Given the description of an element on the screen output the (x, y) to click on. 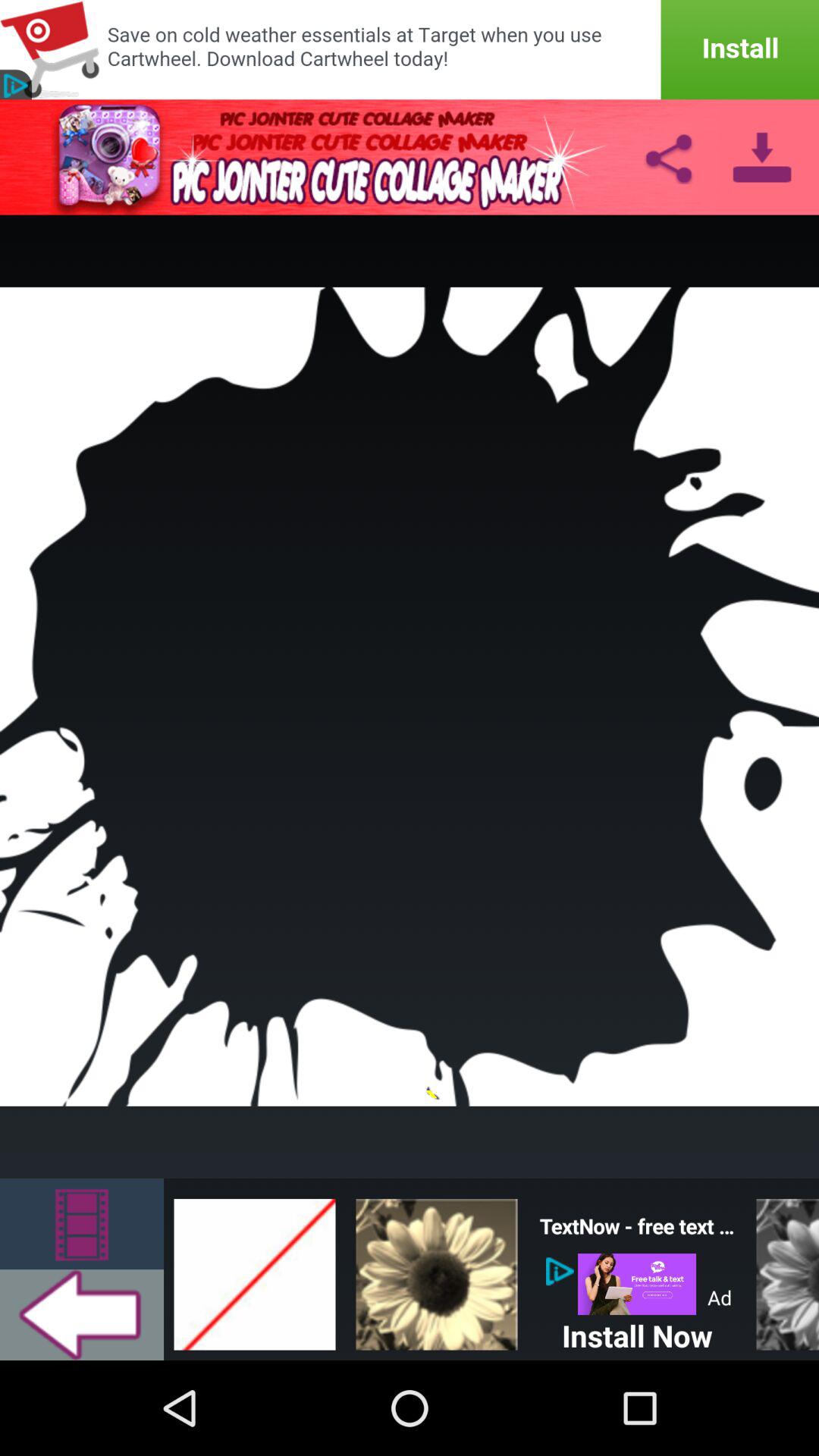
download pic jointer cute collage maker (762, 156)
